Given the description of an element on the screen output the (x, y) to click on. 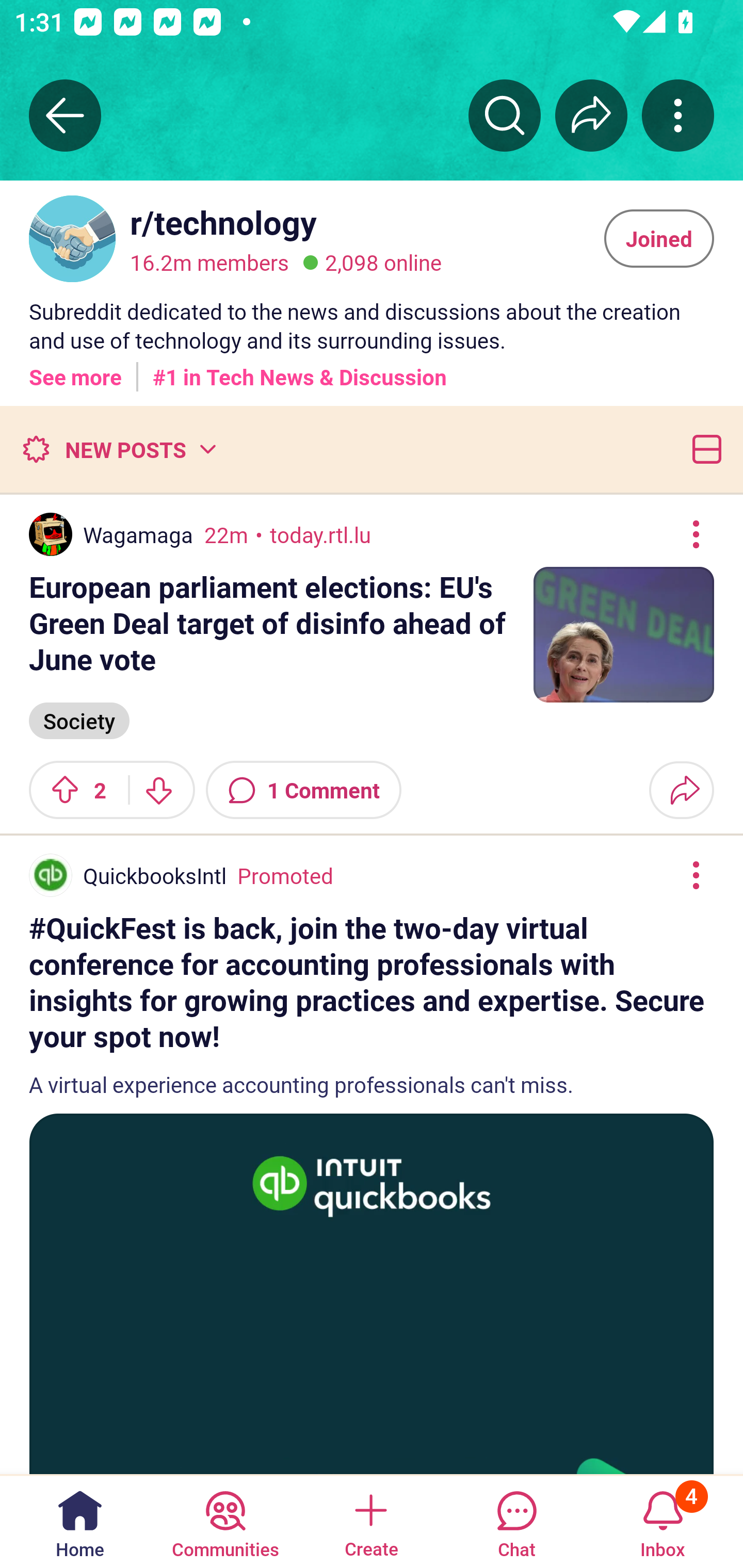
Back (64, 115)
Search r/﻿technology (504, 115)
Share r/﻿technology (591, 115)
More community actions (677, 115)
New posts NEW POSTS (118, 449)
Card (703, 449)
Society (78, 718)
Home (80, 1520)
Communities (225, 1520)
Create a post Create (370, 1520)
Chat (516, 1520)
Inbox, has 4 notifications 4 Inbox (662, 1520)
